Given the description of an element on the screen output the (x, y) to click on. 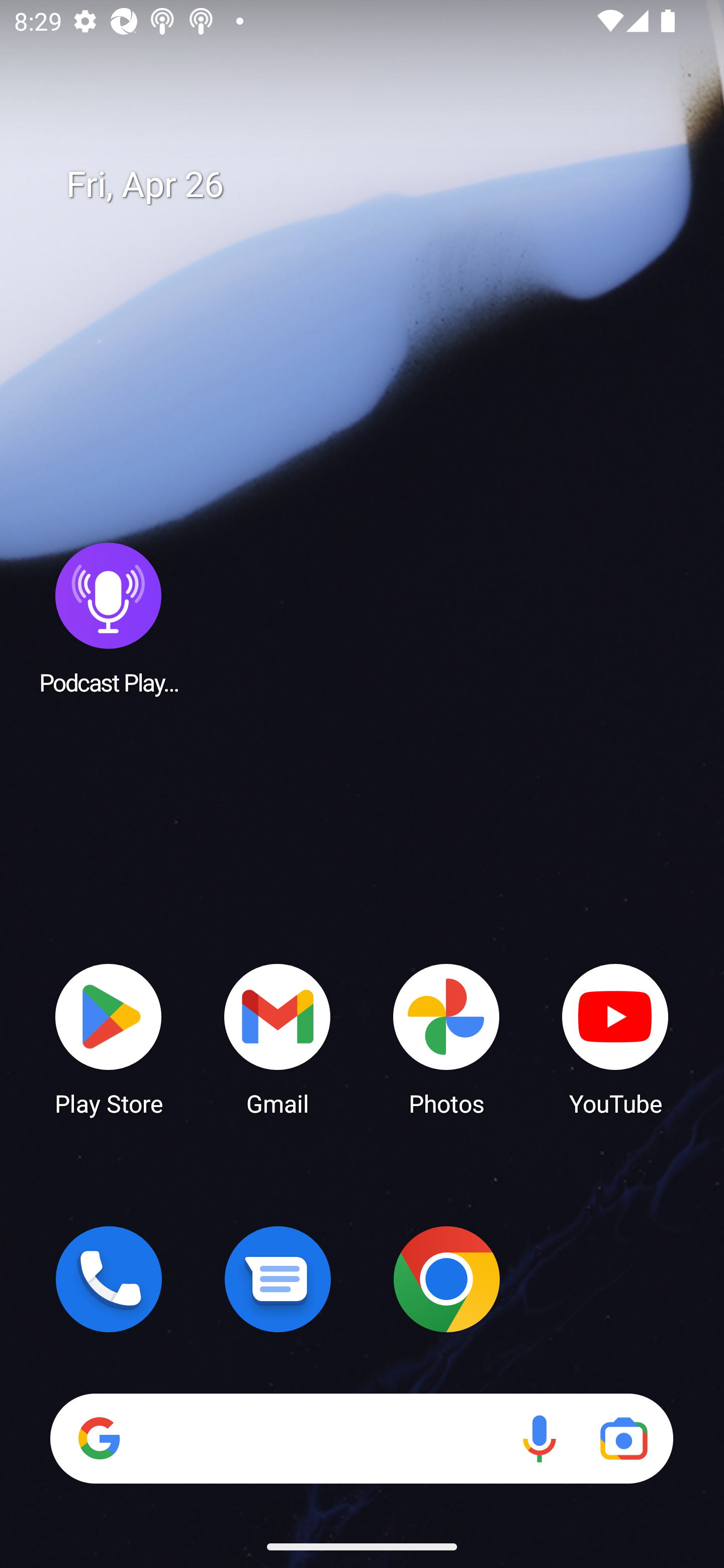
Fri, Apr 26 (375, 184)
Podcast Player (108, 617)
Play Store (108, 1038)
Gmail (277, 1038)
Photos (445, 1038)
YouTube (615, 1038)
Phone (108, 1279)
Messages (277, 1279)
Chrome (446, 1279)
Search Voice search Google Lens (361, 1438)
Voice search (539, 1438)
Google Lens (623, 1438)
